Given the description of an element on the screen output the (x, y) to click on. 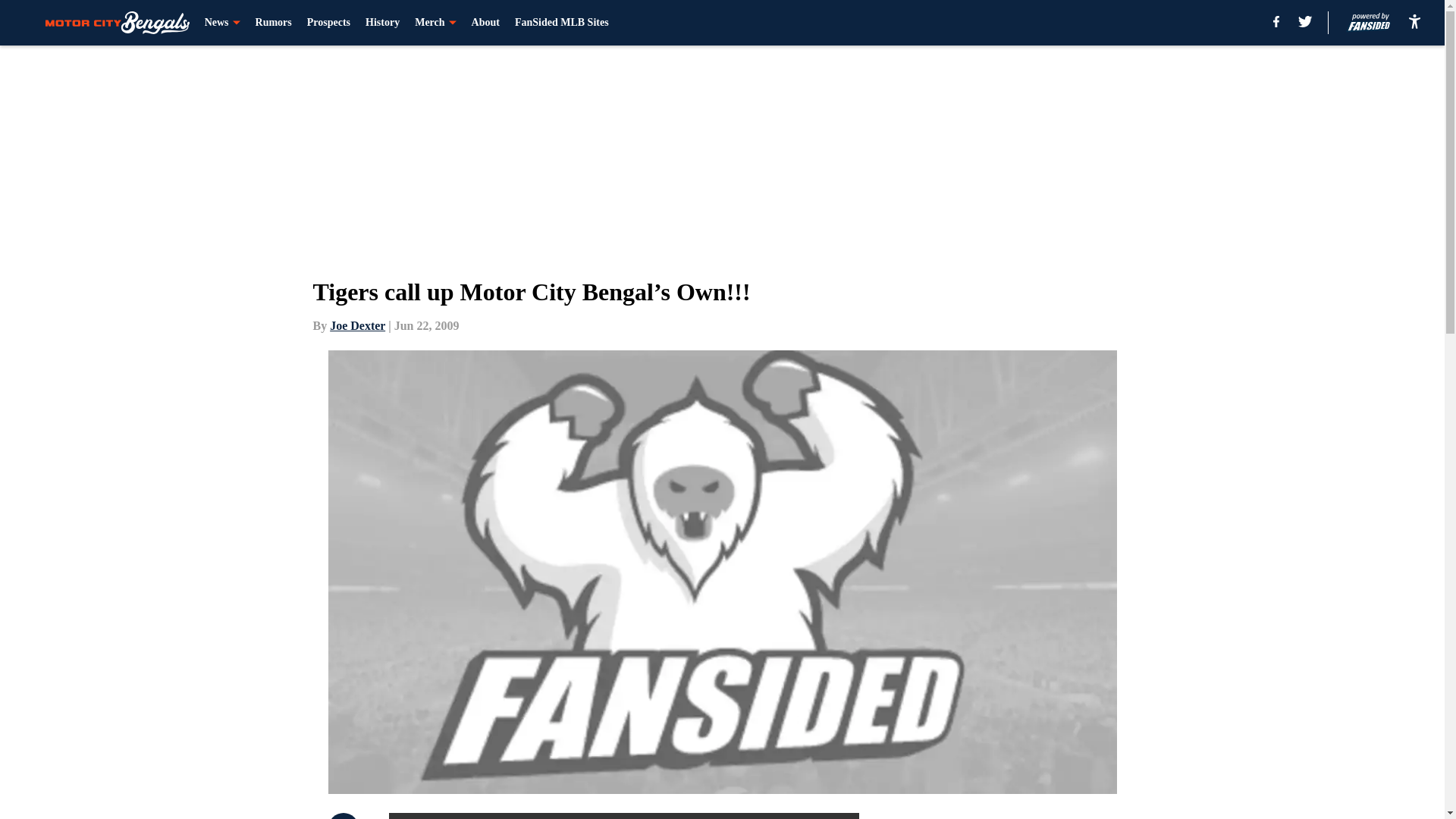
Rumors (274, 22)
History (381, 22)
Joe Dexter (357, 325)
FanSided MLB Sites (561, 22)
3rd party ad content (1047, 816)
News (222, 22)
Prospects (328, 22)
About (485, 22)
